Given the description of an element on the screen output the (x, y) to click on. 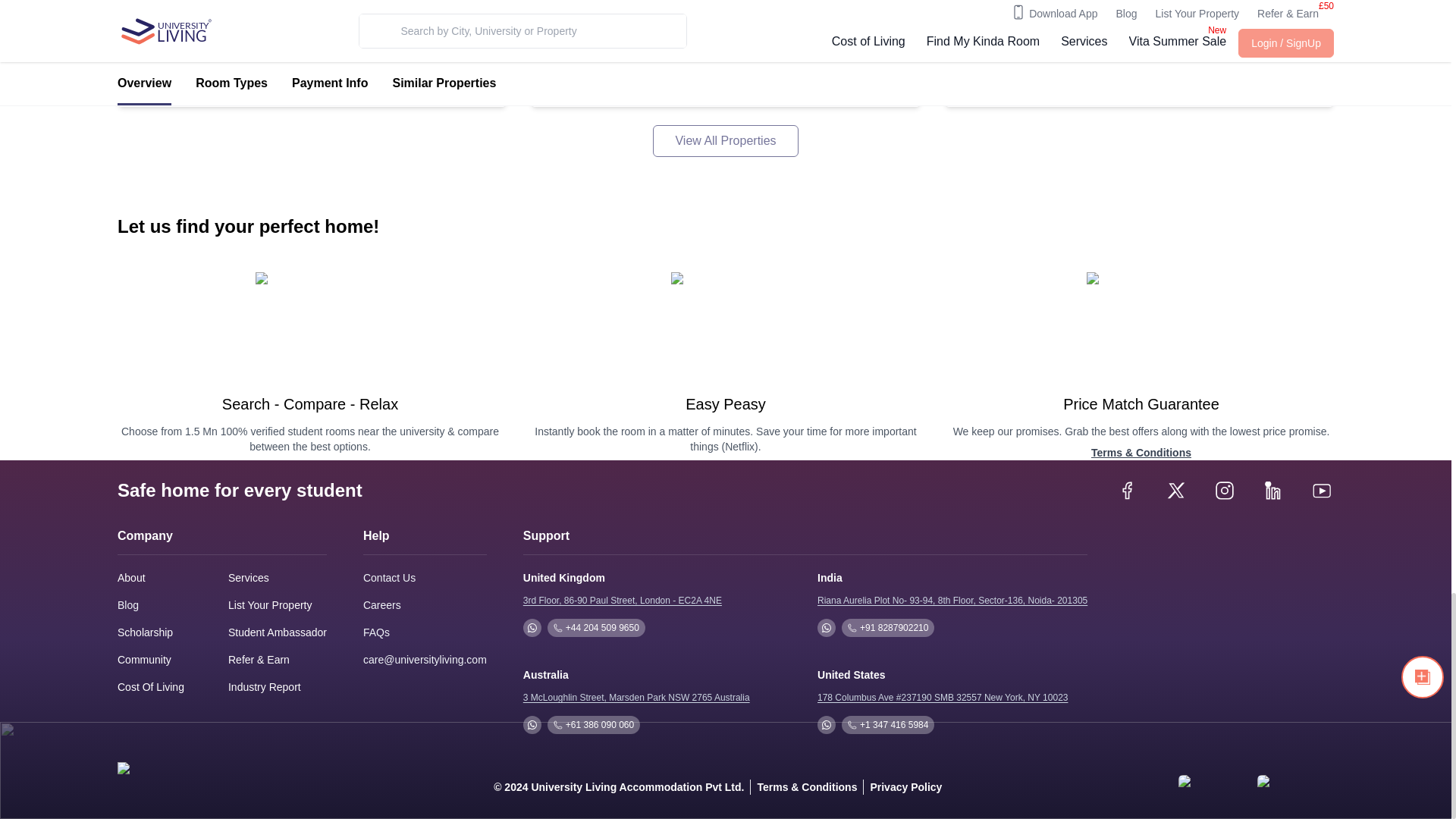
About (131, 577)
Student Ambassador (277, 631)
Services (248, 577)
List Your Property (270, 604)
3107 - 1289 Hornby St (1016, 15)
Careers (381, 604)
Scholarship (145, 631)
Industry Report (264, 686)
Contact Us (388, 577)
FAQs (376, 632)
605 - 1283 Howe Street (191, 15)
Cost Of Living (150, 686)
Community (144, 659)
605 - 1283 Howe Street (191, 15)
Blog (127, 604)
